Given the description of an element on the screen output the (x, y) to click on. 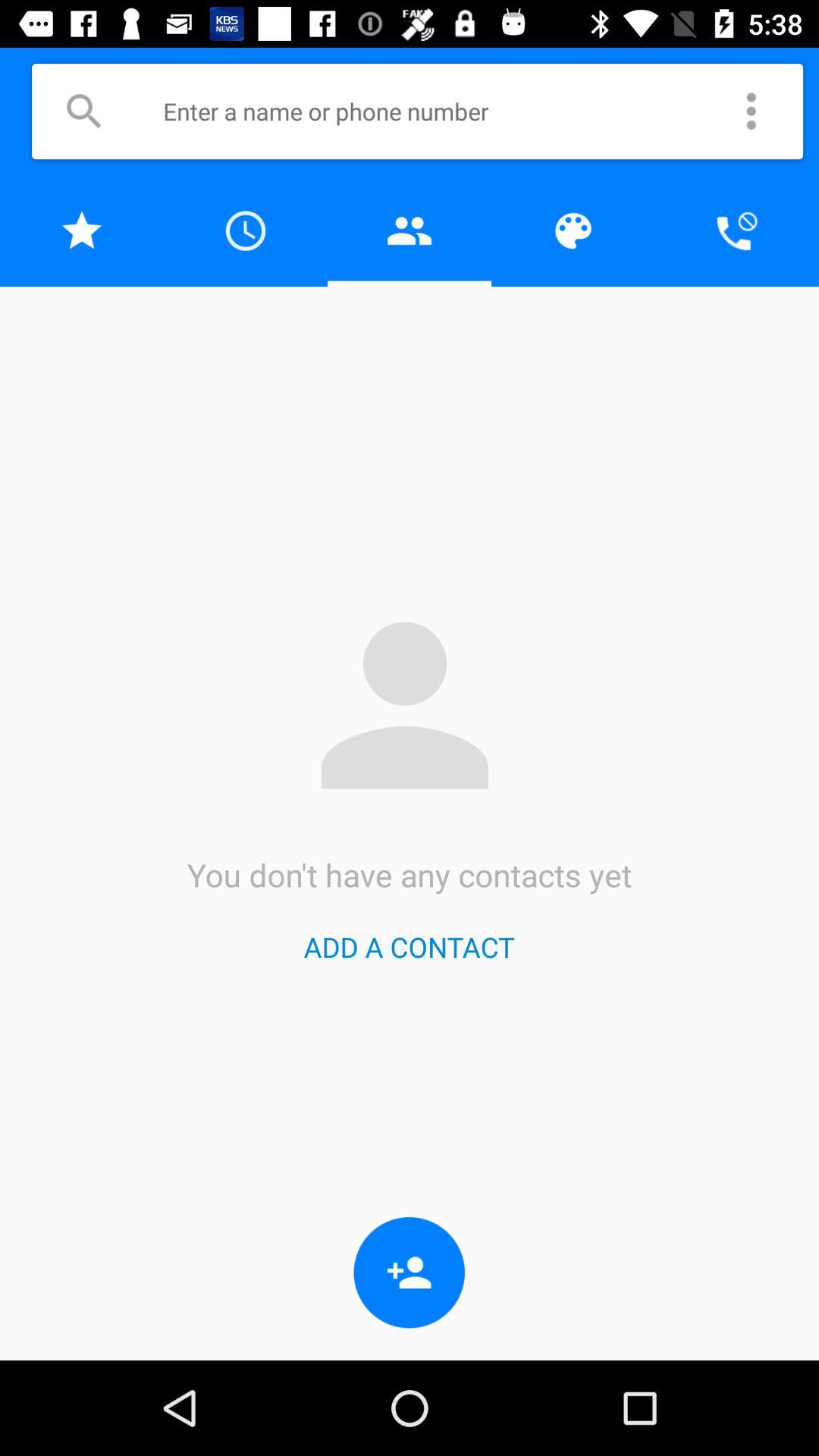
mute (737, 230)
